Given the description of an element on the screen output the (x, y) to click on. 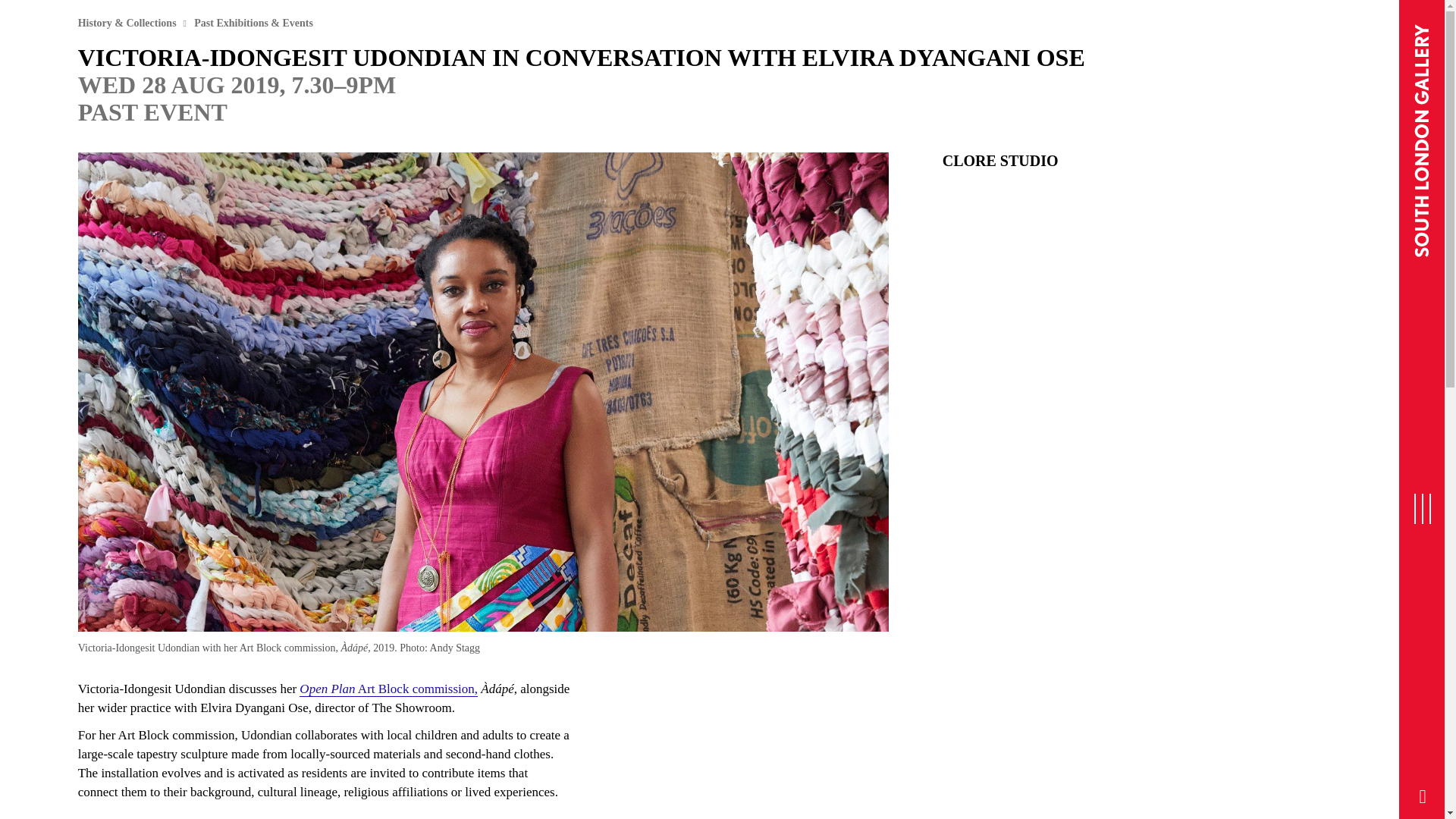
Open Plan Art Block commission, (388, 688)
